Given the description of an element on the screen output the (x, y) to click on. 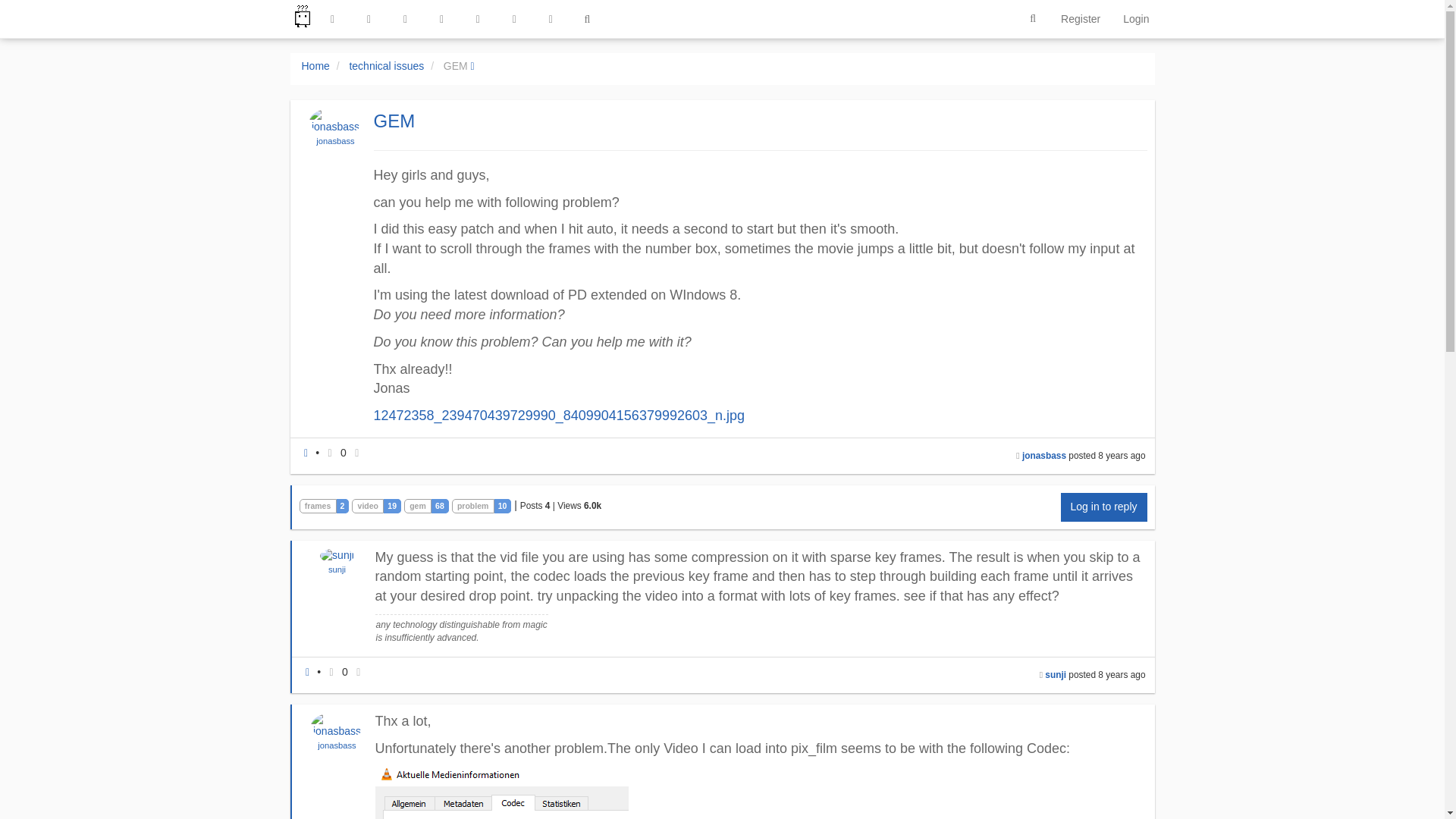
Register (1080, 18)
technical issues (386, 65)
Search (1032, 18)
Login (1136, 18)
gem68 (426, 504)
Home (315, 65)
problem10 (481, 504)
video19 (376, 504)
jonasbass (1043, 455)
jonasbass (334, 140)
jonasbass (335, 141)
5988 (592, 505)
frames2 (323, 504)
4 (547, 505)
